Given the description of an element on the screen output the (x, y) to click on. 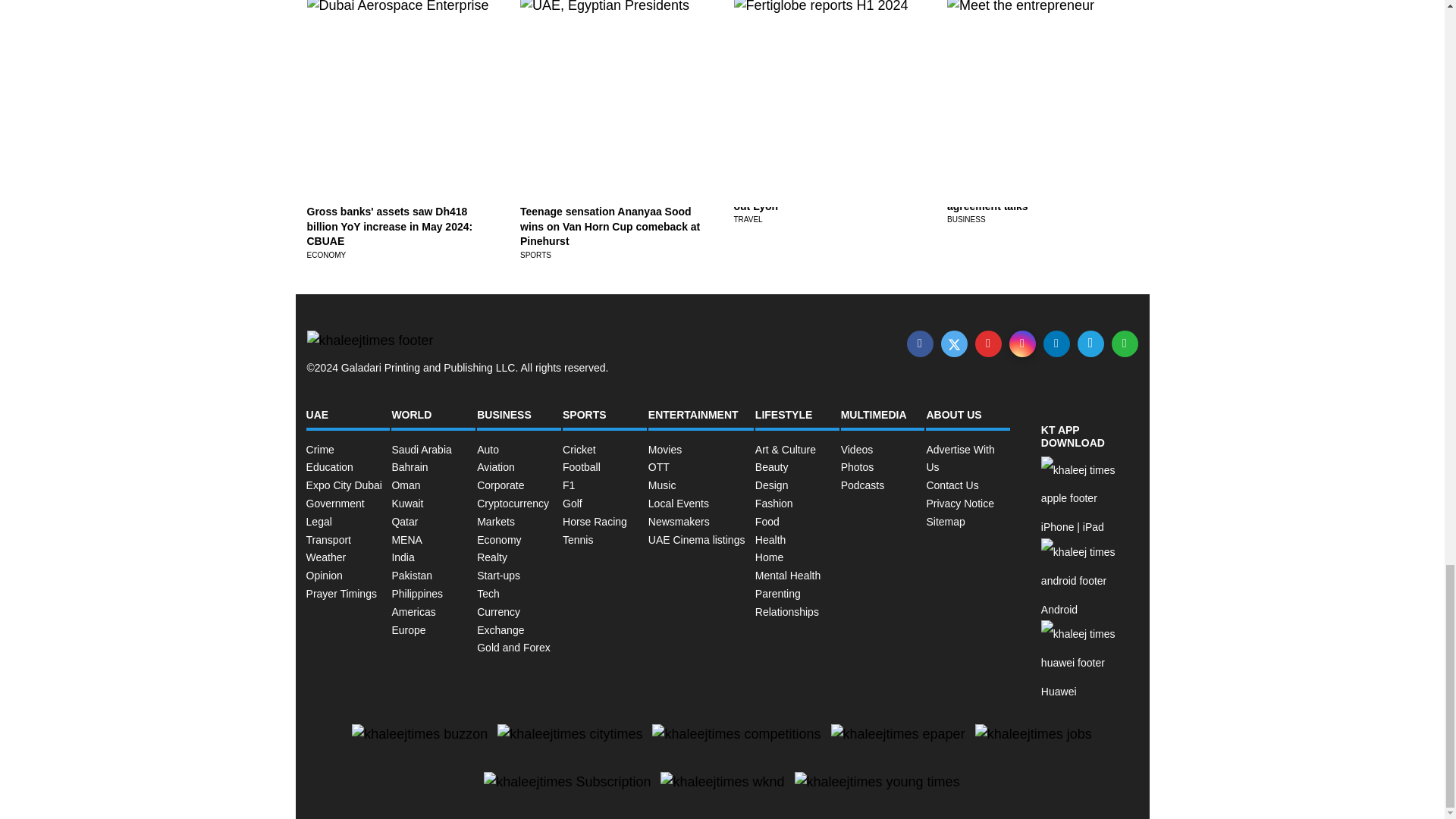
In France for the Olympics? Check out Lyon  (820, 198)
Meet the entrepreneur bringing fashion in technology (1025, 58)
GCC, Indonesia launches free trade agreement talks (1036, 198)
